Given the description of an element on the screen output the (x, y) to click on. 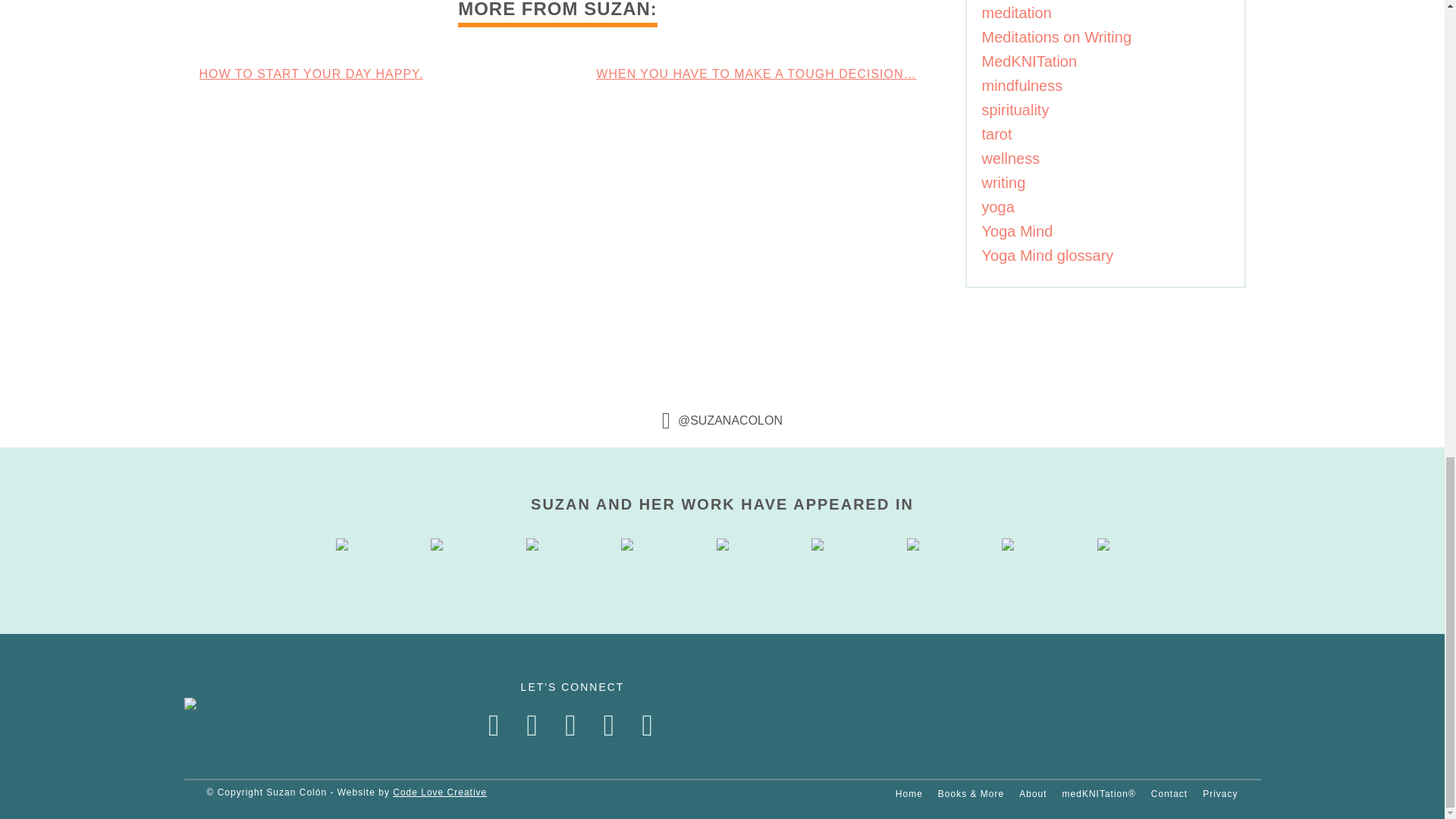
yoga (997, 207)
Meditations on Writing (1056, 36)
wellness (1010, 158)
Yoga Mind glossary (1047, 255)
mindfulness (1021, 85)
meditation (1016, 12)
writing (1003, 182)
MedKNITation (1029, 61)
tarot (996, 134)
Yoga Mind (1016, 230)
